Given the description of an element on the screen output the (x, y) to click on. 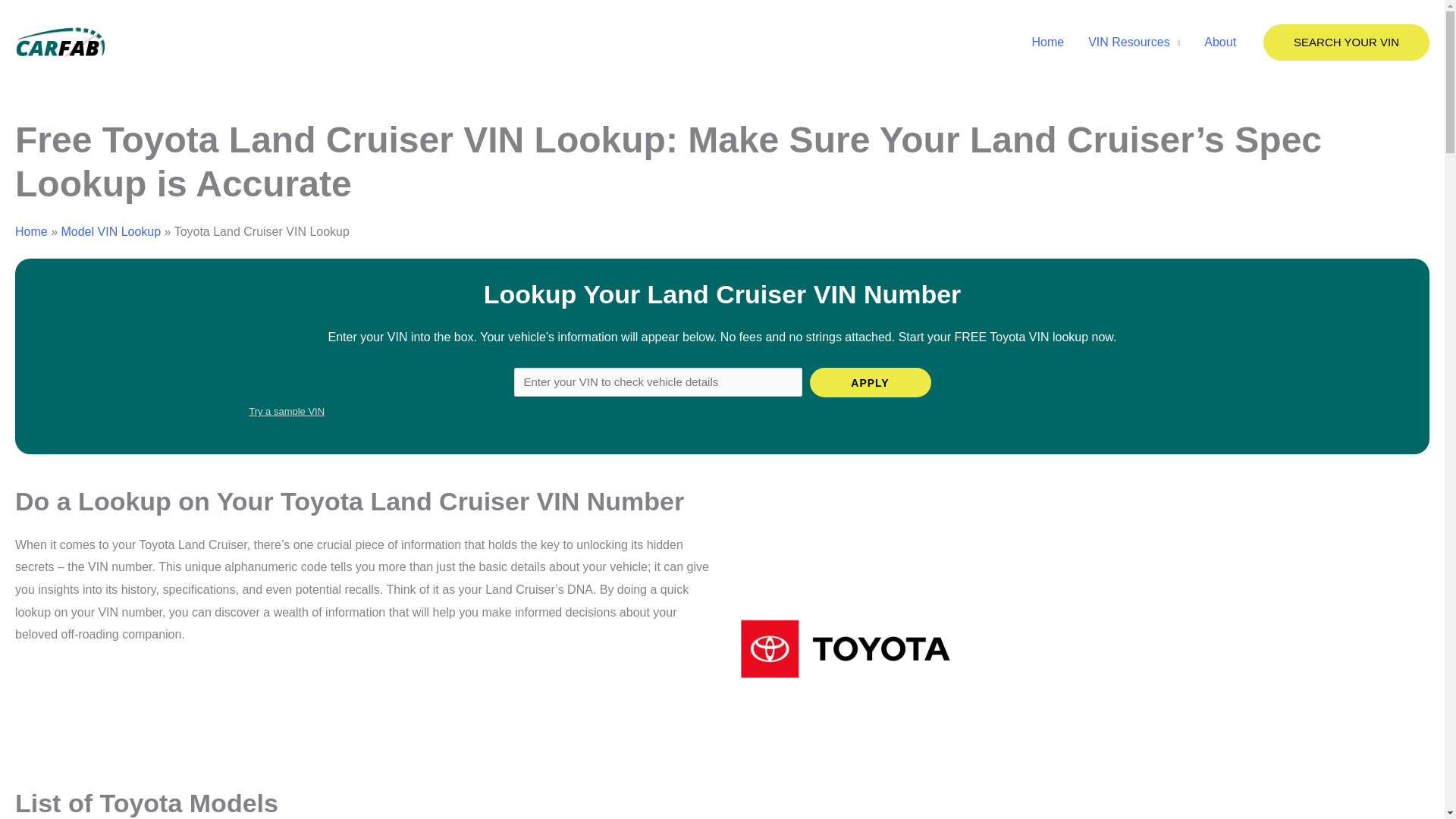
Home (1047, 41)
About (1219, 41)
VIN Resources (1133, 41)
SEARCH YOUR VIN (1346, 42)
Model VIN Lookup (110, 231)
Home (31, 231)
APPLY (870, 382)
